Given the description of an element on the screen output the (x, y) to click on. 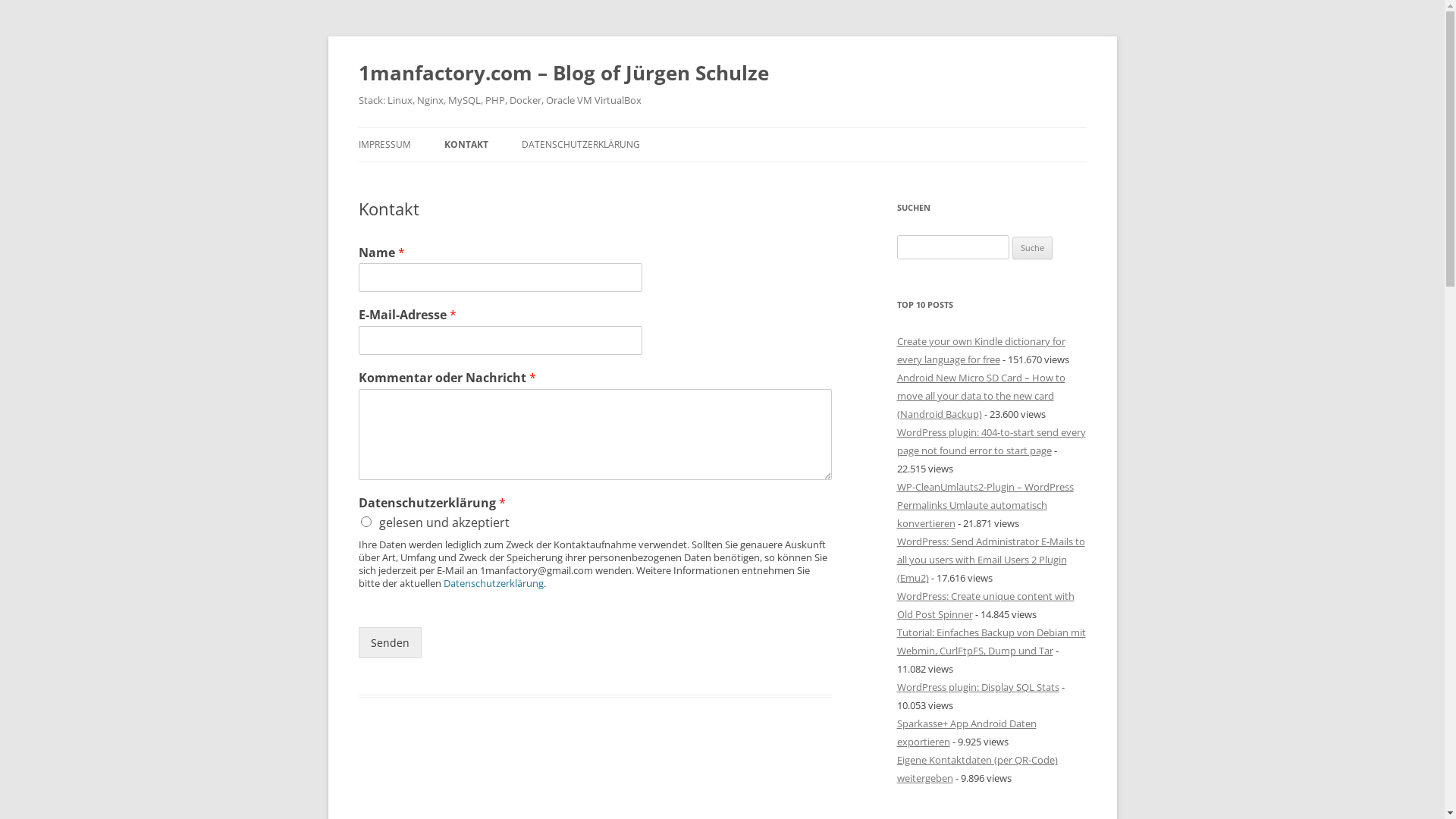
Suche Element type: text (1032, 247)
Zum Inhalt springen Element type: text (721, 127)
Eigene Kontaktdaten (per QR-Code) weitergeben Element type: text (976, 768)
Sparkasse+ App Android Daten exportieren Element type: text (965, 732)
KONTAKT Element type: text (466, 144)
WordPress plugin: Display SQL Stats Element type: text (977, 686)
WordPress: Create unique content with Old Post Spinner Element type: text (984, 605)
IMPRESSUM Element type: text (383, 144)
Senden Element type: text (388, 642)
